Given the description of an element on the screen output the (x, y) to click on. 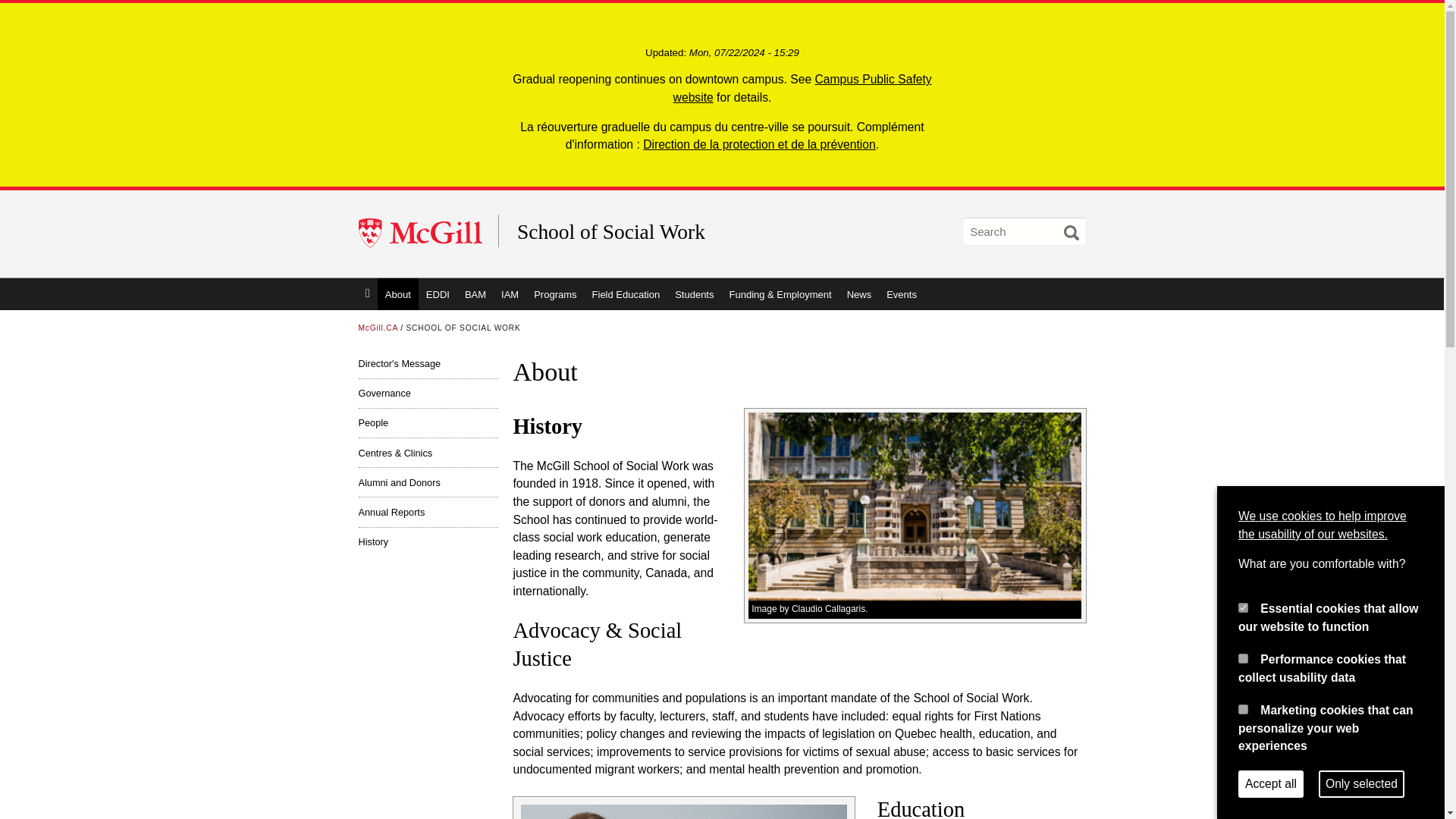
IAM (509, 294)
BAM (475, 294)
Students (693, 294)
Campus Public Safety website (801, 88)
About (398, 294)
Programs (554, 294)
SCHOOL OF SOCIAL WORK (463, 327)
Search (1070, 232)
Events (901, 294)
People (427, 422)
Field Education (626, 294)
Annual Reports (427, 511)
Alumni and Donors (427, 481)
required (1243, 607)
EDDI (438, 294)
